Given the description of an element on the screen output the (x, y) to click on. 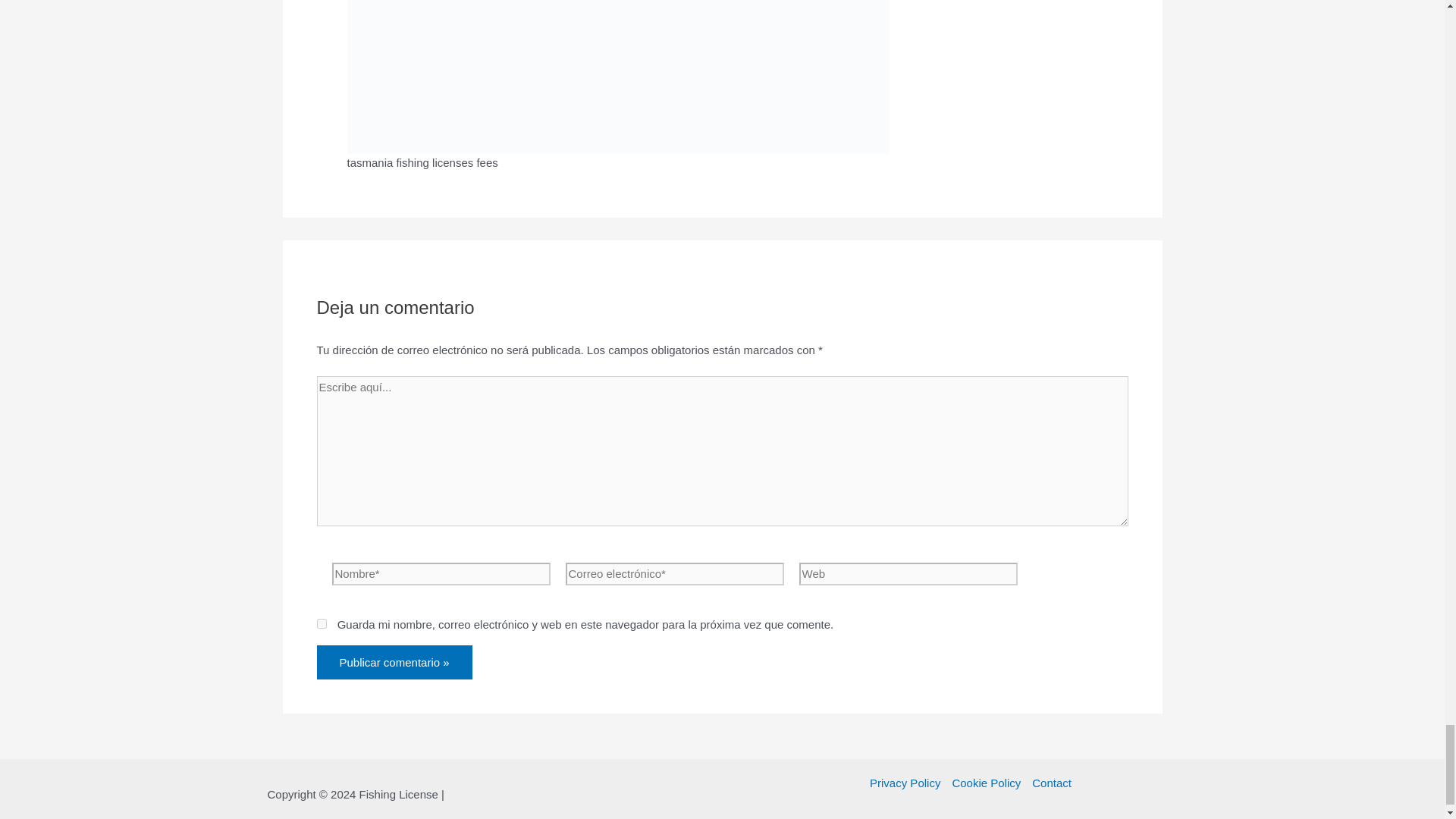
yes (321, 623)
Contact (1048, 782)
Privacy Policy (907, 782)
Cookie Policy (986, 782)
